Given the description of an element on the screen output the (x, y) to click on. 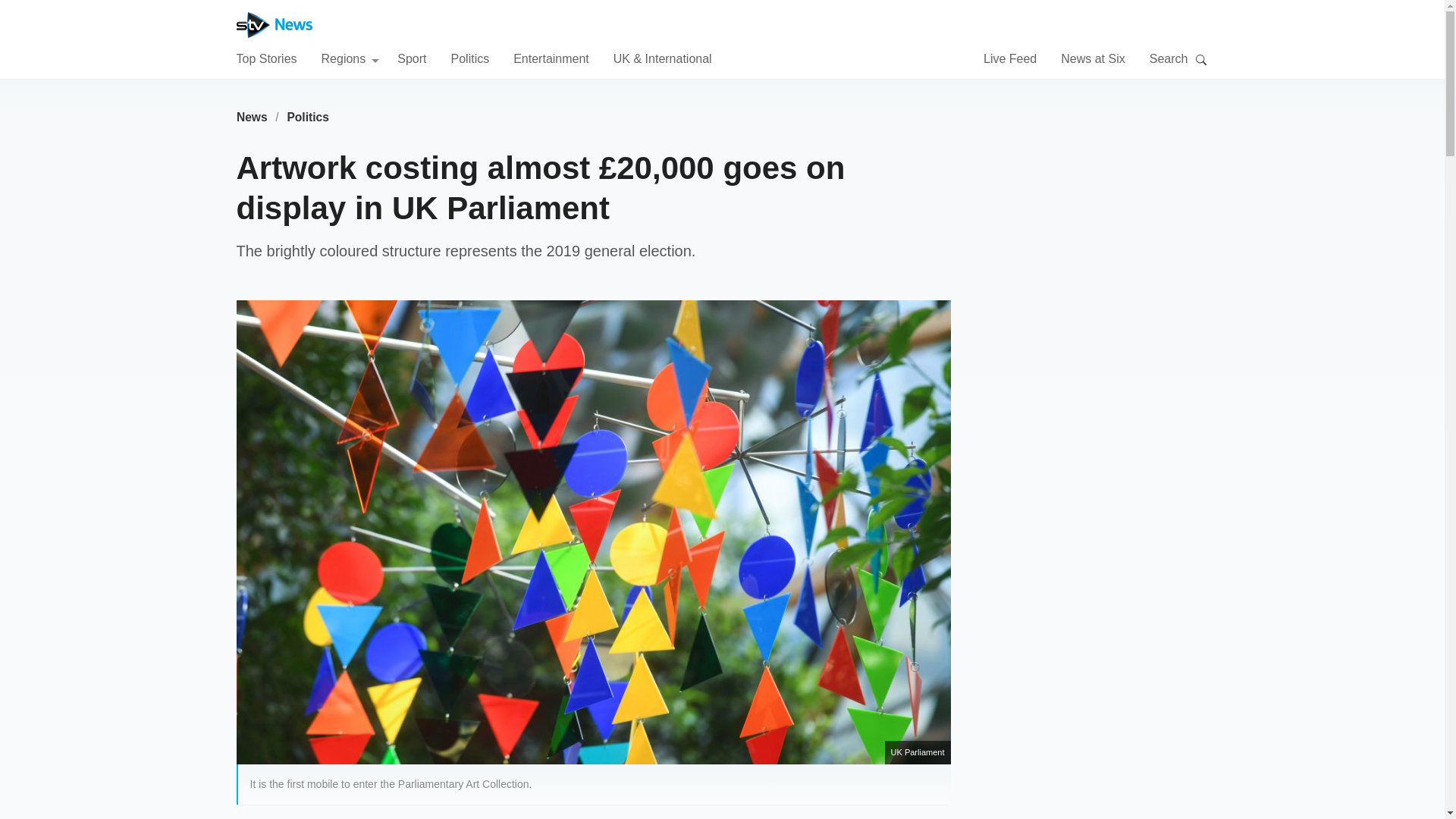
Live Feed (1010, 57)
Politics (307, 116)
News (252, 116)
Politics (469, 57)
Entertainment (551, 57)
News at Six (1092, 57)
Search (1201, 59)
Regions (350, 57)
Top Stories (266, 57)
